Given the description of an element on the screen output the (x, y) to click on. 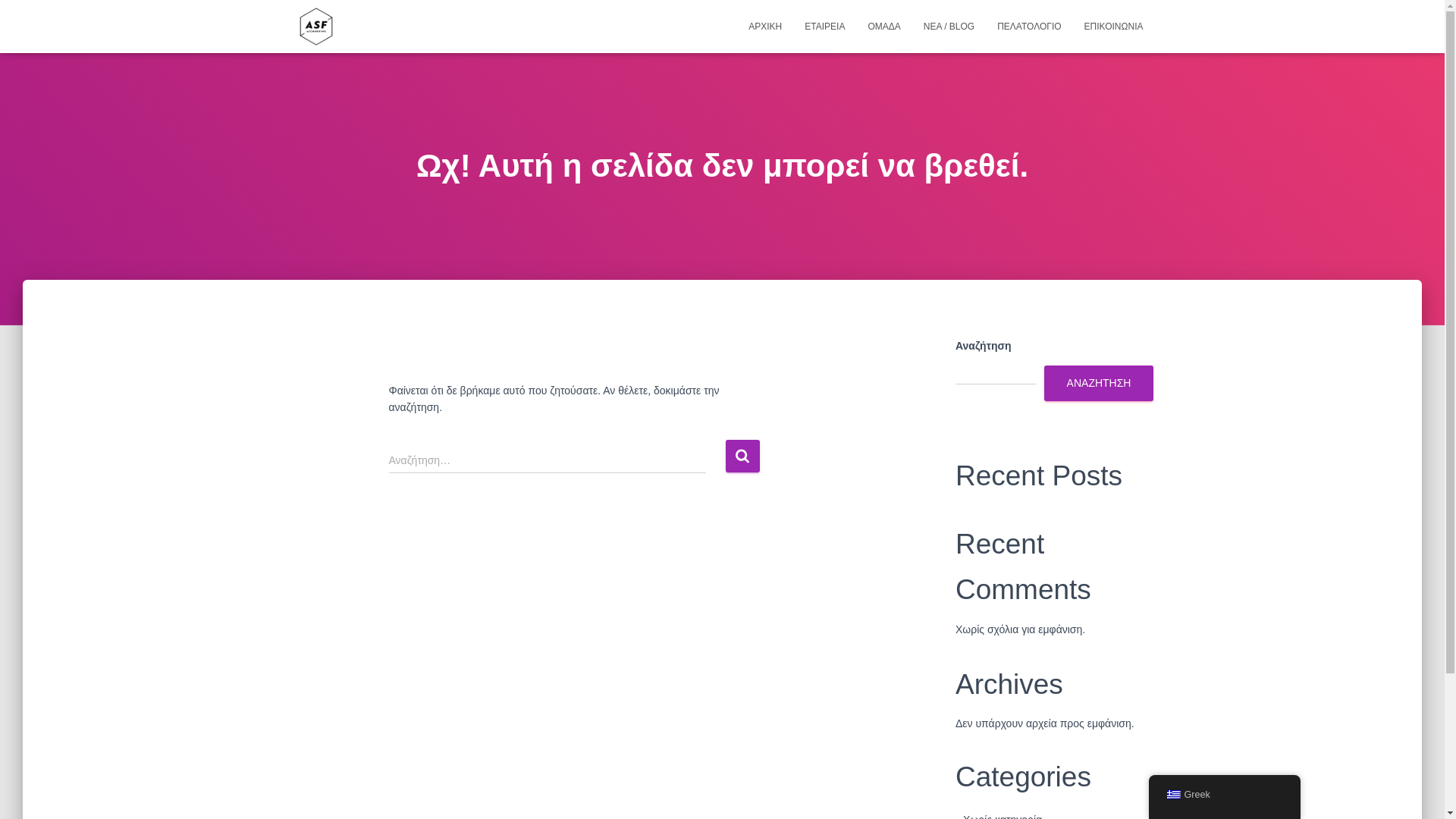
Greek (1224, 794)
Greek (1172, 794)
A.S.F. Accounting I.K.E. (316, 26)
